Given the description of an element on the screen output the (x, y) to click on. 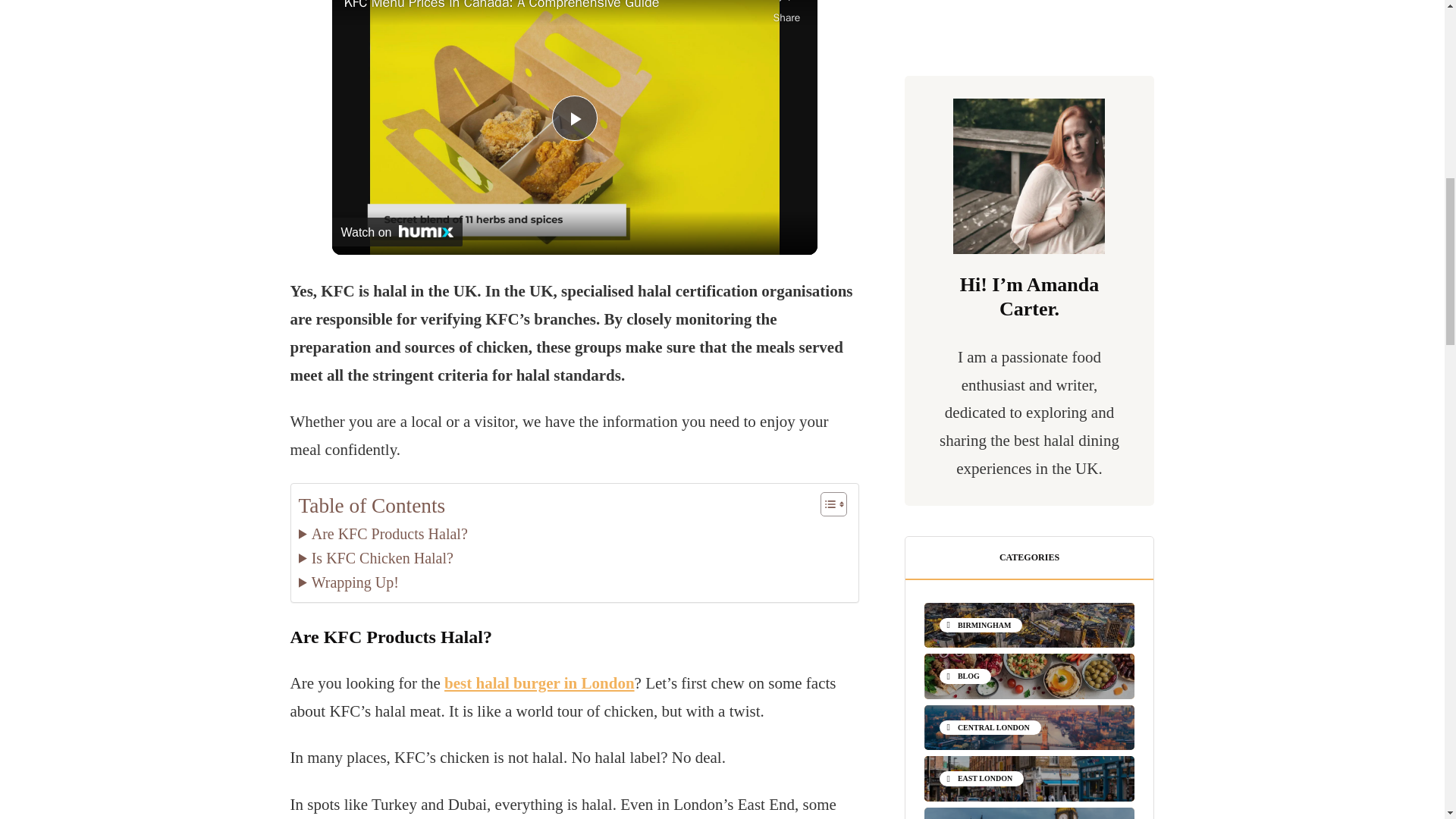
Play Video (573, 117)
Wrapping Up! (348, 582)
Are KFC Products Halal? (382, 533)
share (786, 13)
Play Video (573, 117)
Is KFC Chicken Halal? (375, 558)
